Given the description of an element on the screen output the (x, y) to click on. 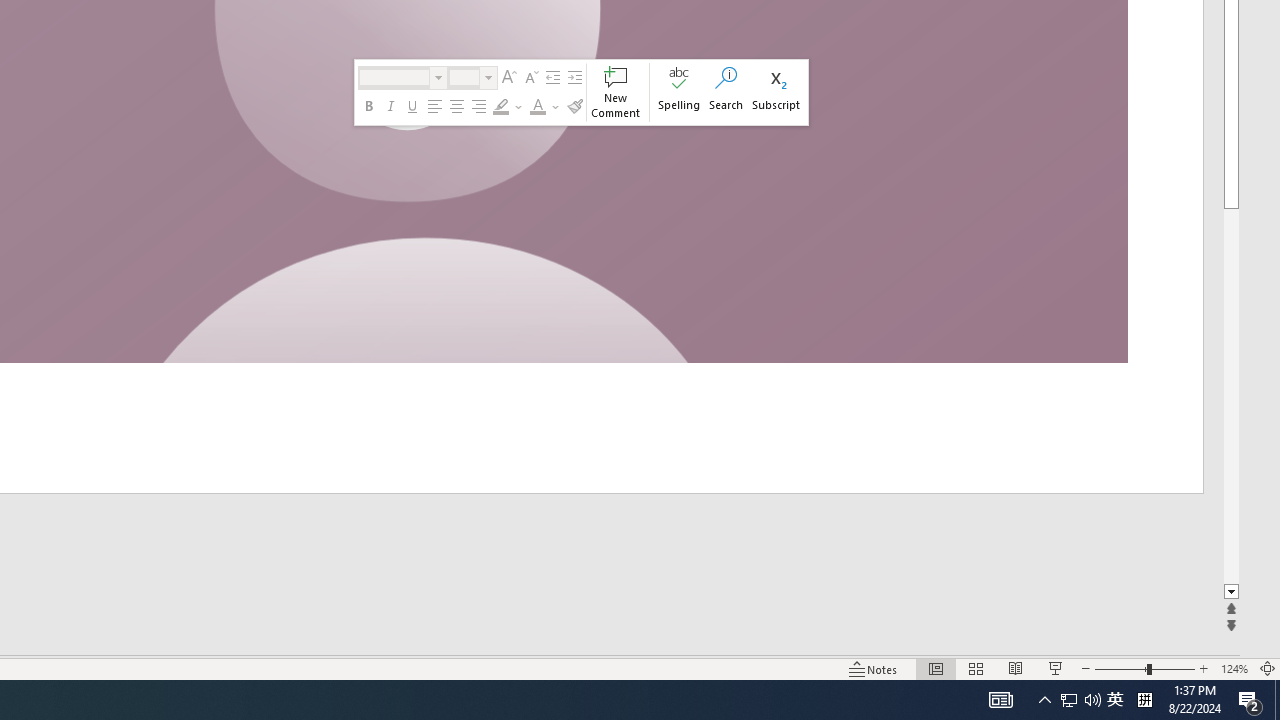
Increase Indent (575, 78)
Text Highlight Color (508, 106)
Normal (936, 668)
Search (726, 92)
